Given the description of an element on the screen output the (x, y) to click on. 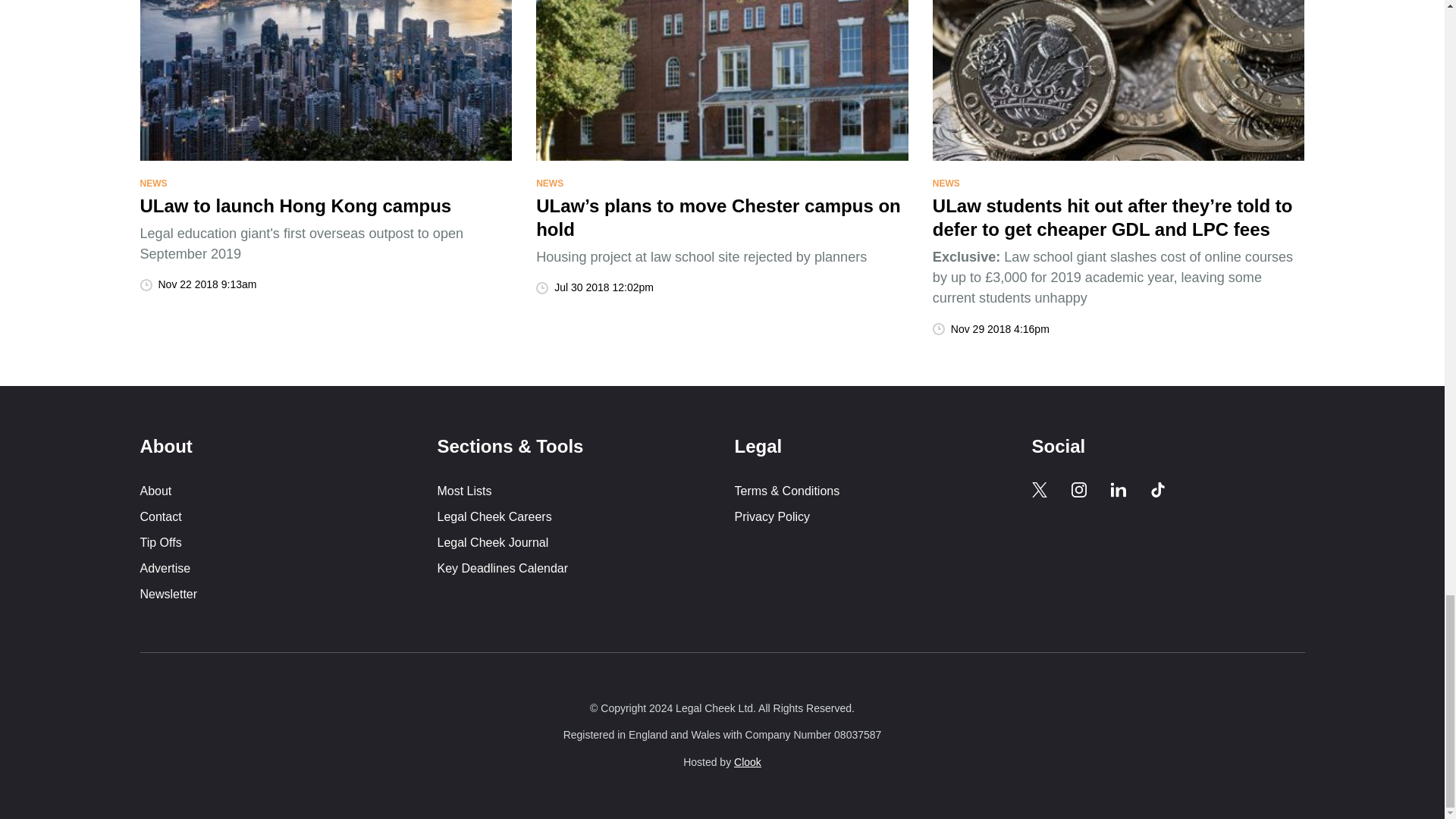
Legal Cheek LinkedIn (1117, 489)
Legal Cheek Instagram (1078, 489)
Legal Cheek Twitter (1038, 489)
Legal Cheek Tik Tok (1157, 489)
